Given the description of an element on the screen output the (x, y) to click on. 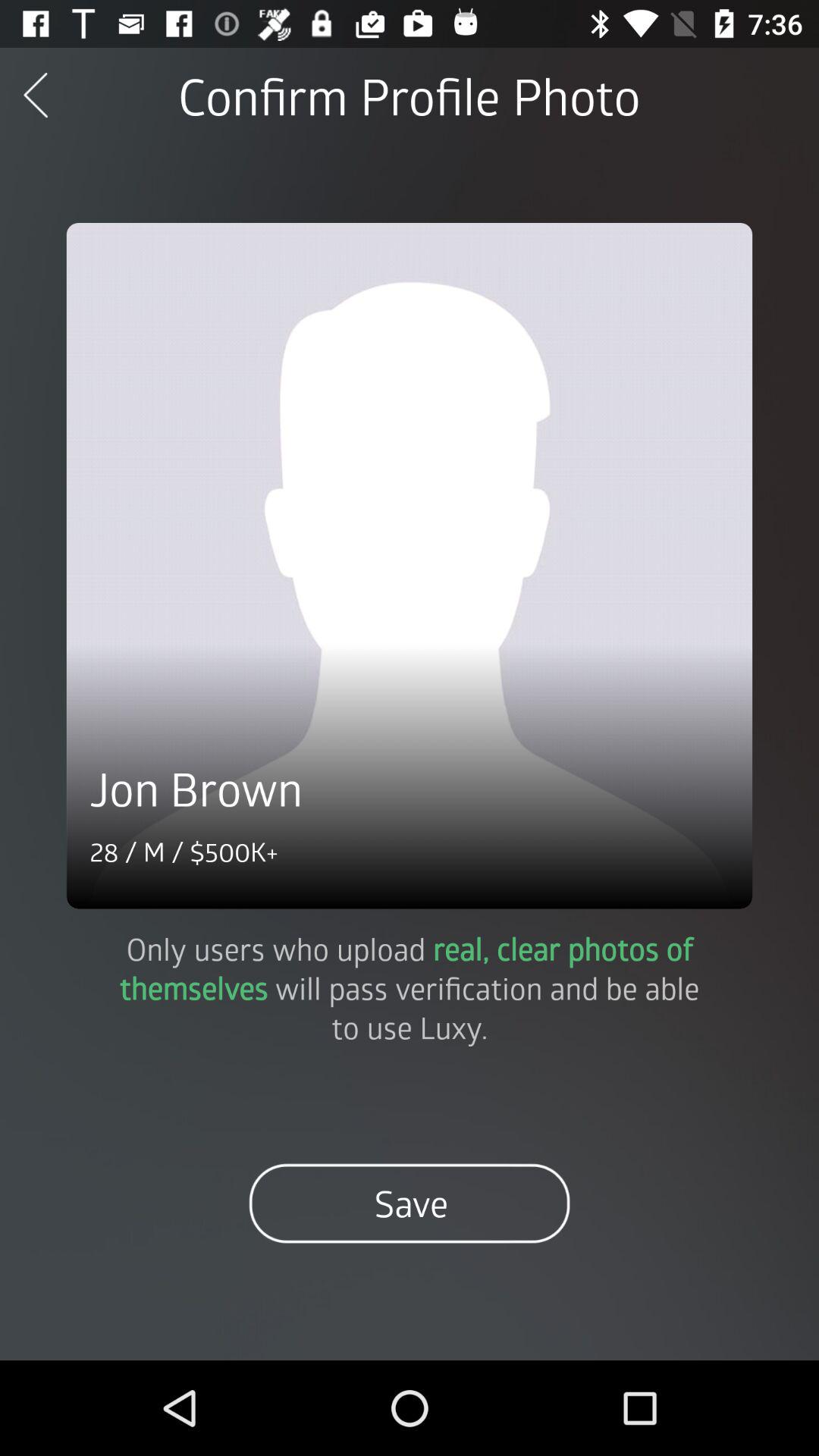
press icon below the confirm profile photo (409, 565)
